Given the description of an element on the screen output the (x, y) to click on. 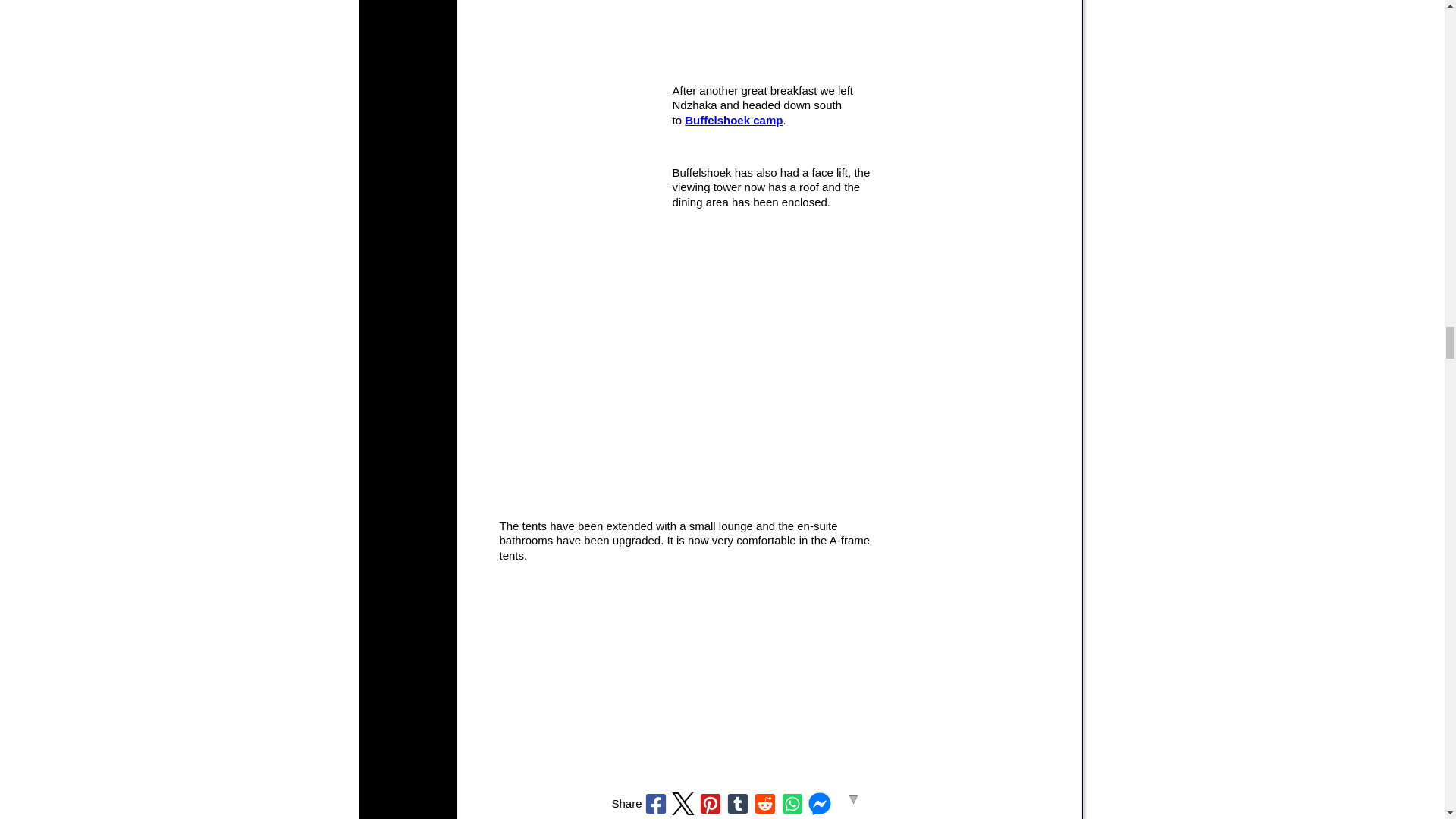
Buffelshoek camp (733, 119)
